Given the description of an element on the screen output the (x, y) to click on. 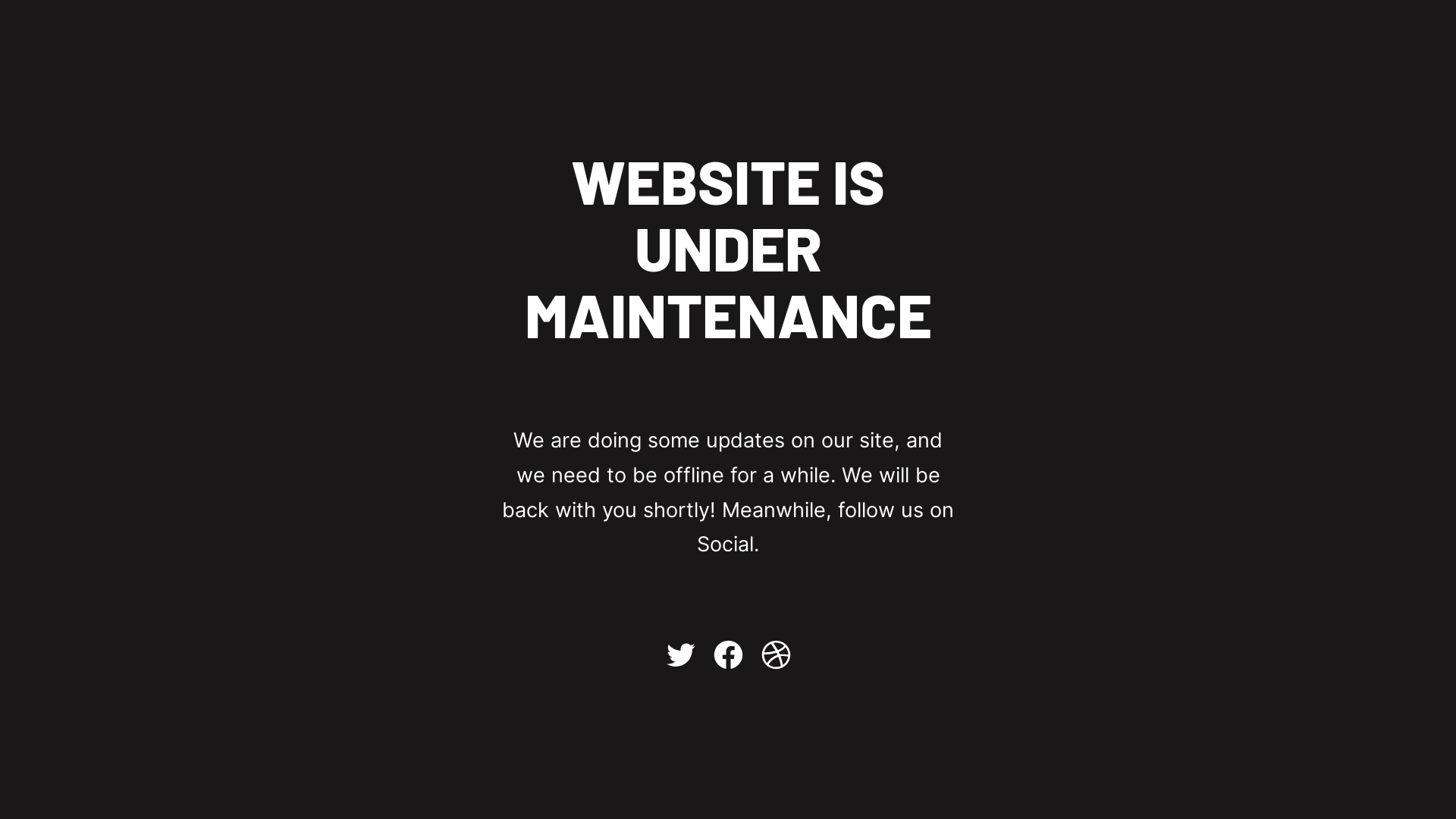
Dribbble Element type: text (775, 654)
Facebook Element type: text (728, 654)
Twitter Element type: text (679, 654)
